Given the description of an element on the screen output the (x, y) to click on. 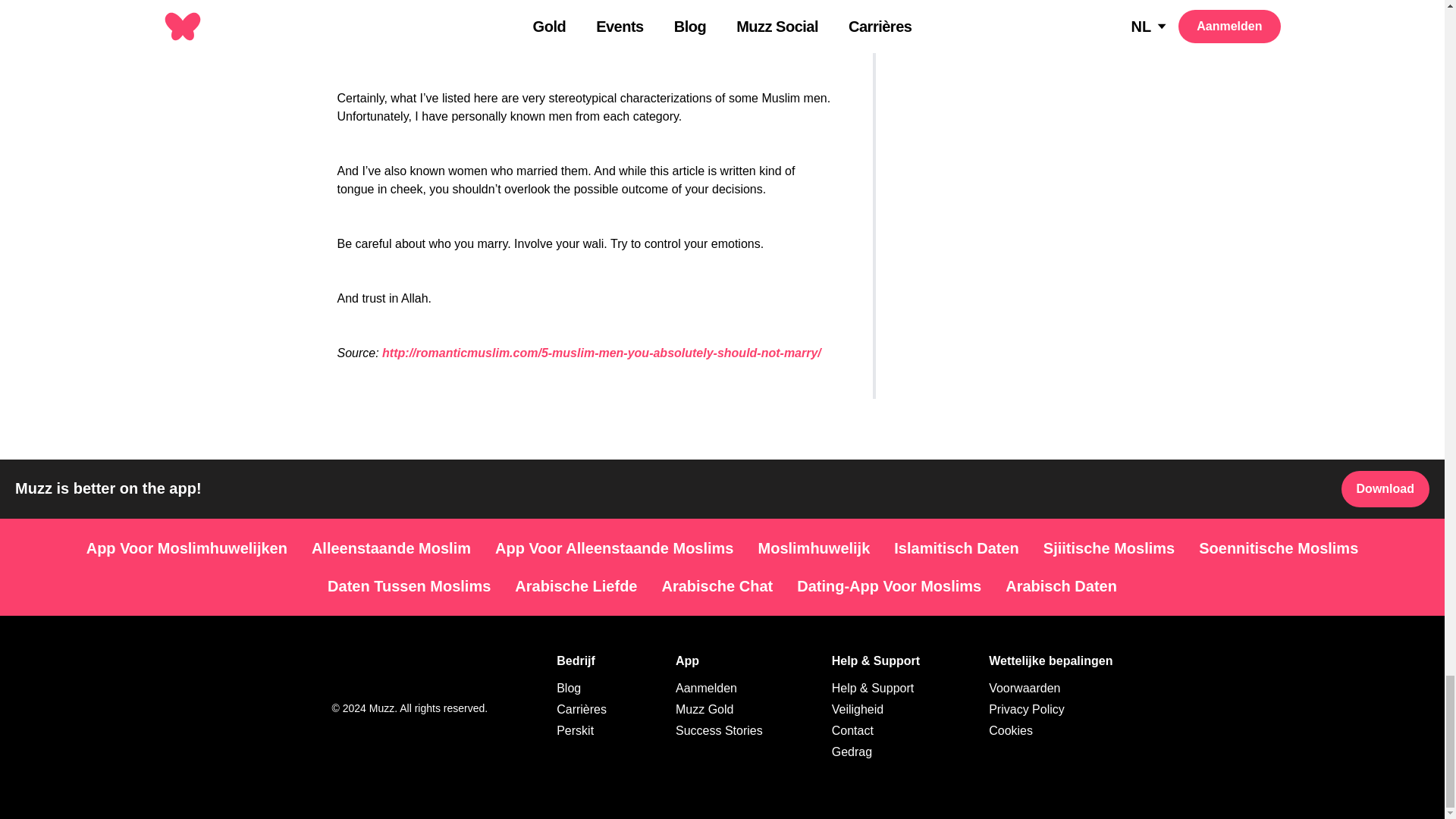
Arabische Chat (716, 585)
Blog (568, 687)
Arabische Liefde (575, 585)
App Voor Moslimhuwelijken (186, 548)
Islamitisch Daten (956, 548)
Sjiitische Moslims (1108, 548)
Dating-App Voor Moslims (888, 585)
Alleenstaande Moslim (391, 548)
Soennitische Moslims (1278, 548)
Arabisch Daten (1060, 585)
App Voor Alleenstaande Moslims (614, 548)
Daten Tussen Moslims (408, 585)
Moslimhuwelijk (813, 548)
